Given the description of an element on the screen output the (x, y) to click on. 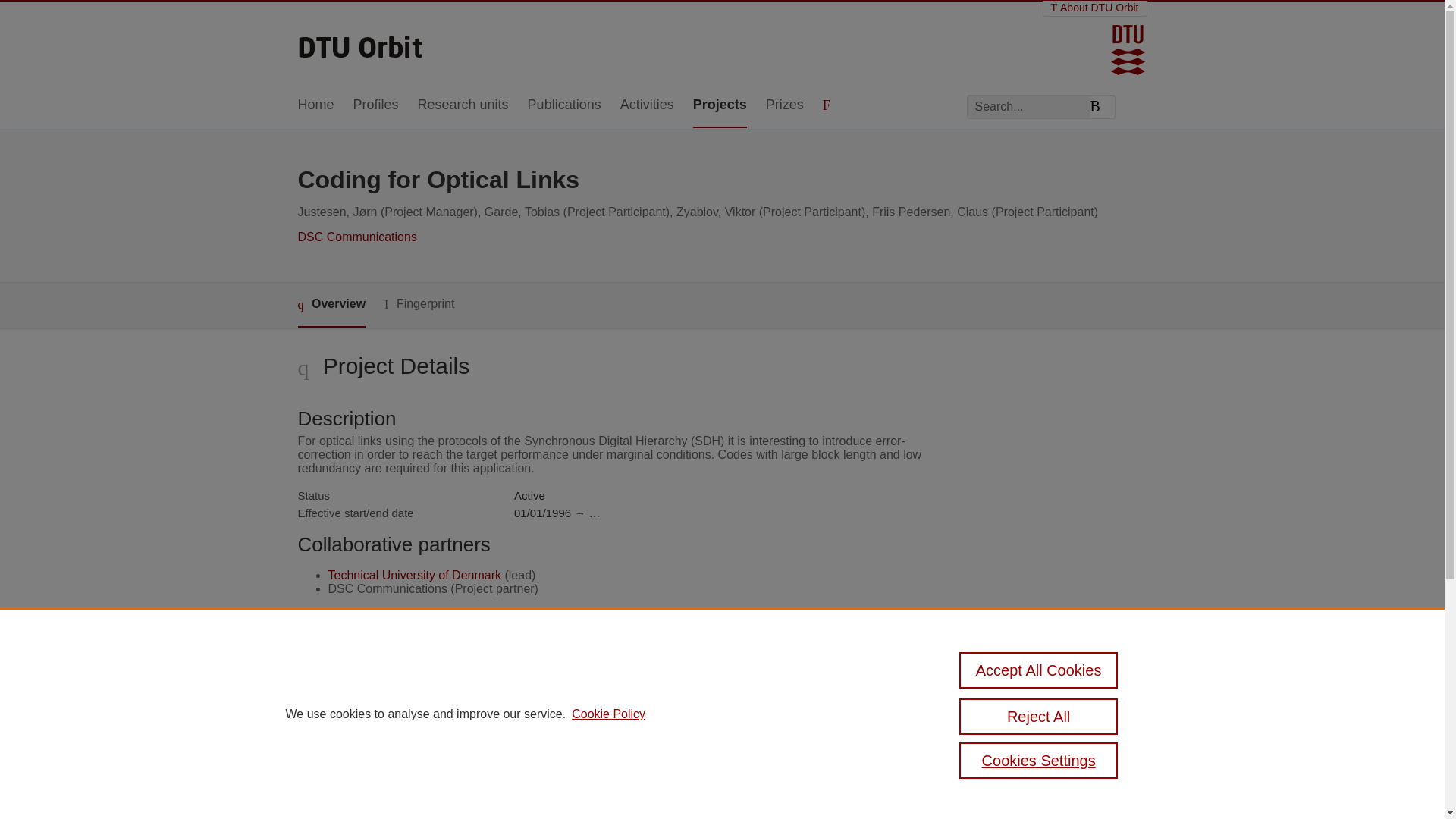
Activities (647, 105)
Profiles (375, 105)
Technical University of Denmark (413, 574)
Cookie Policy (608, 713)
Publications (564, 105)
Projects (719, 105)
Overview (331, 304)
About DTU Orbit (1095, 7)
Research units (462, 105)
Welcome to DTU Research Database Home (361, 41)
DSC Communications (356, 236)
Fingerprint (419, 303)
